Given the description of an element on the screen output the (x, y) to click on. 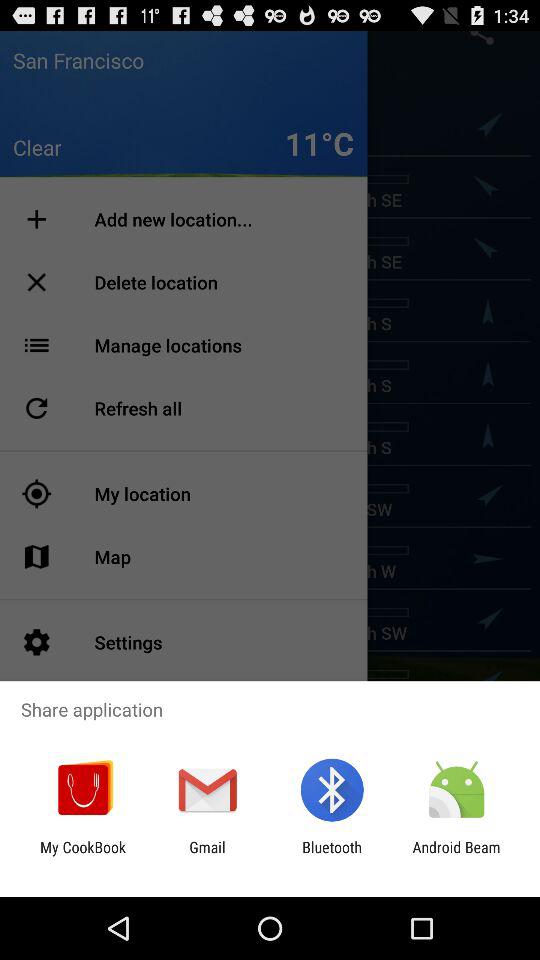
press the item next to my cookbook app (207, 856)
